Given the description of an element on the screen output the (x, y) to click on. 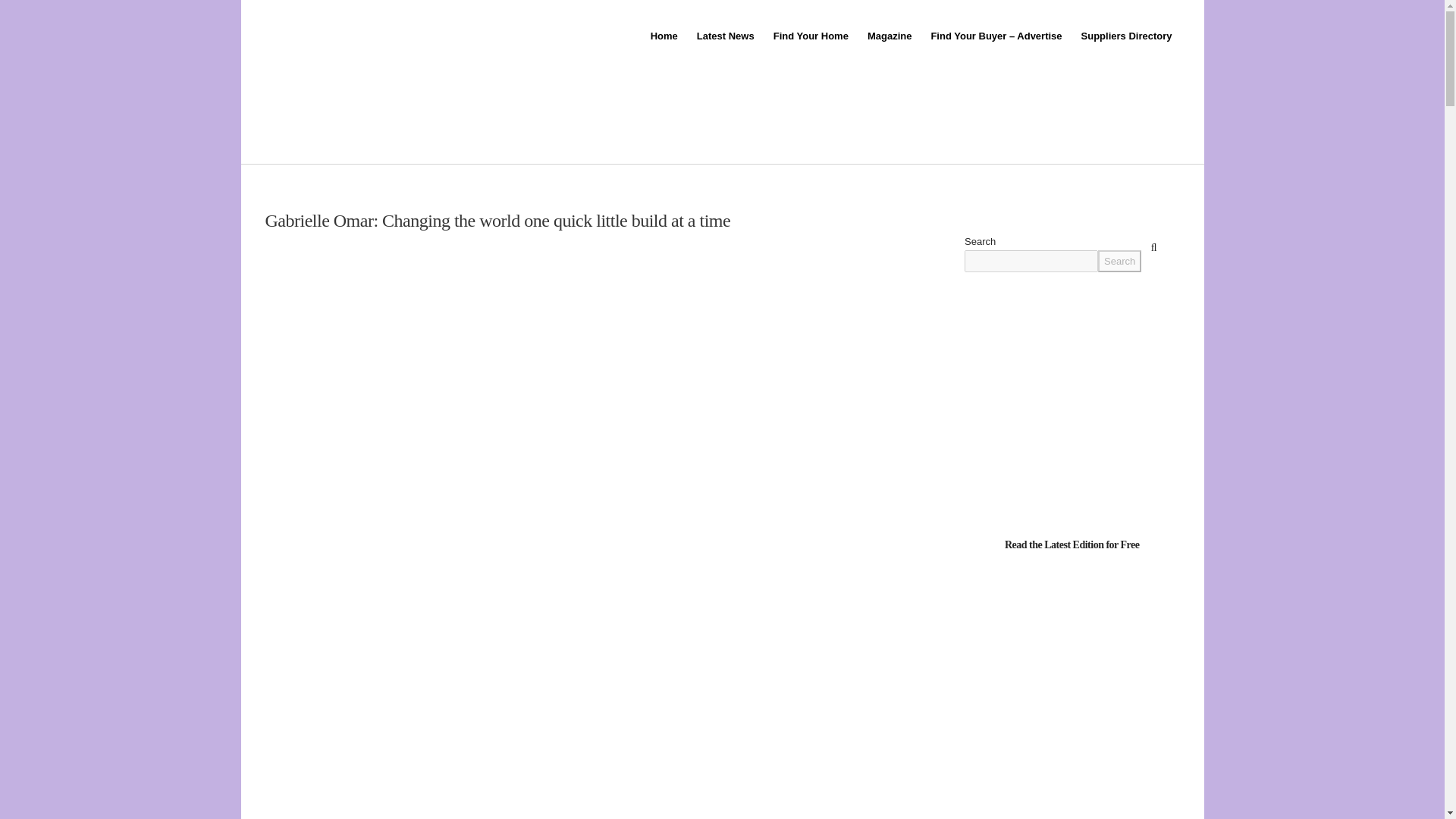
Magazine (888, 36)
Find Your Home (809, 36)
Search (1119, 260)
Home (662, 36)
Read the Latest Edition for Free (1072, 543)
Latest News (724, 36)
Suppliers Directory (1125, 36)
